Given the description of an element on the screen output the (x, y) to click on. 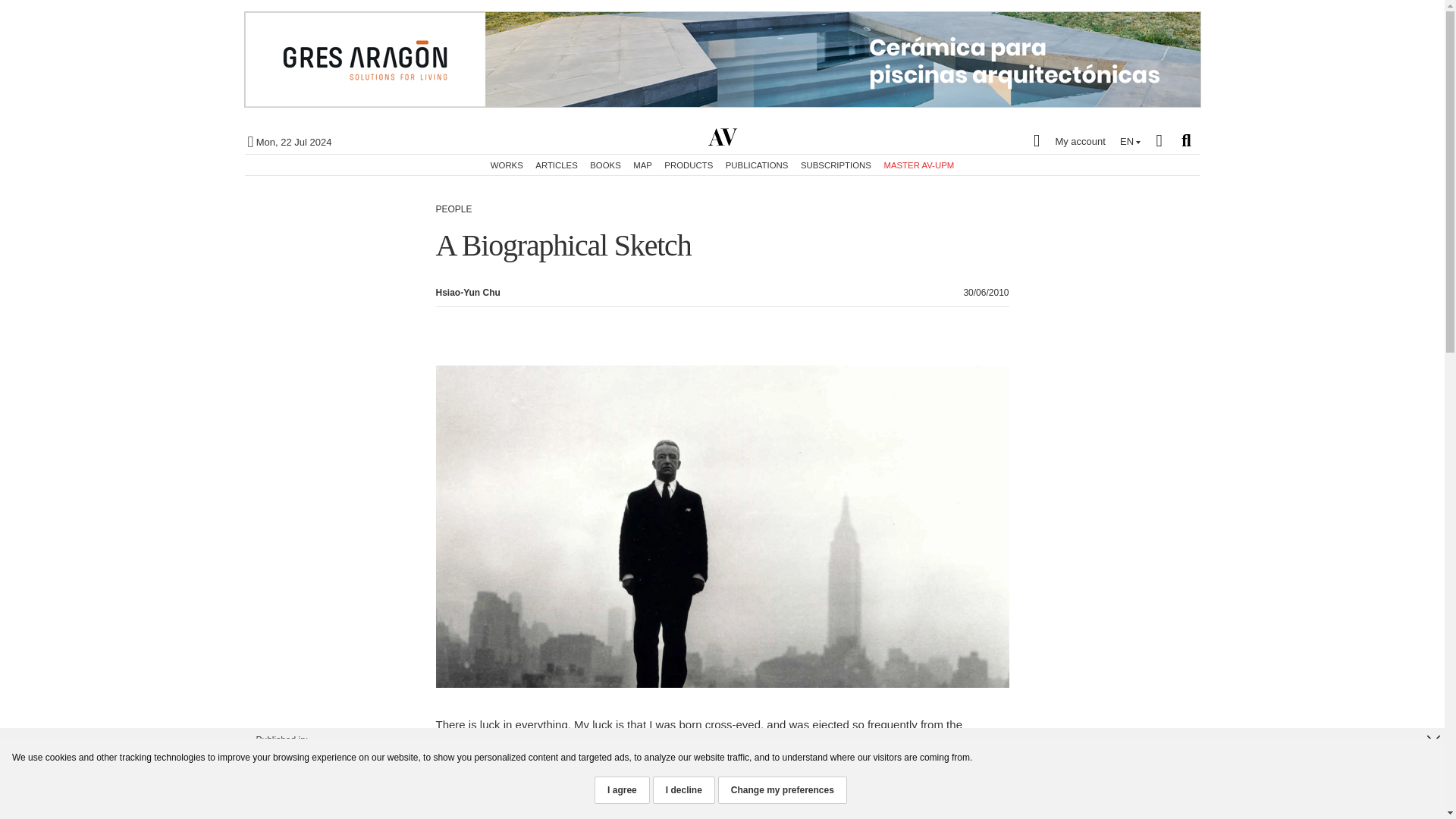
My account (1065, 139)
Add to favoites (1383, 122)
Change my preferences (782, 789)
I agree (621, 789)
Share this content (1383, 155)
I decline (683, 789)
Search (1185, 140)
